Given the description of an element on the screen output the (x, y) to click on. 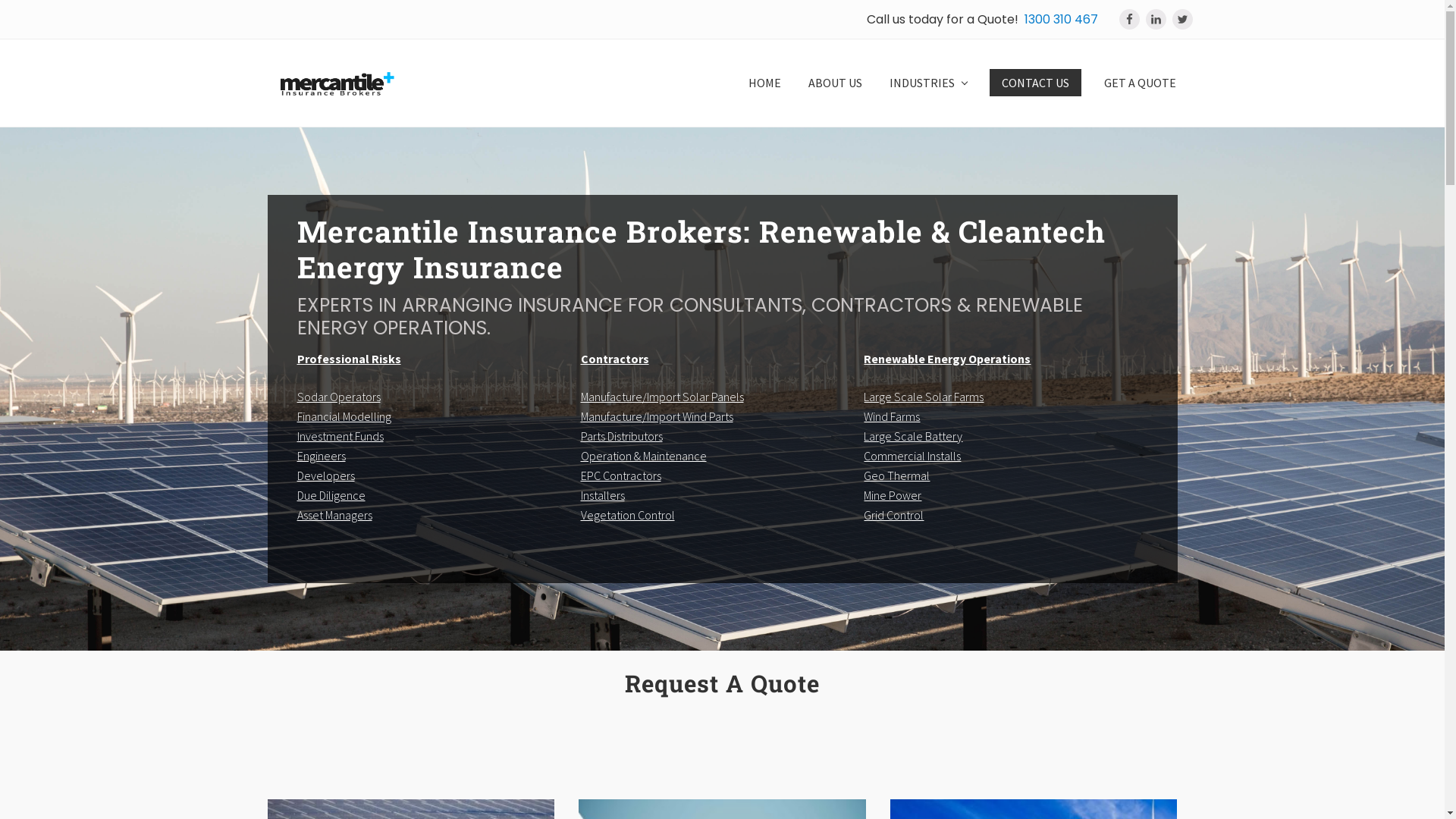
Asset Managers Element type: text (334, 514)
Parts Distributors Element type: text (621, 435)
Contractors Element type: text (614, 358)
Professional Risks Element type: text (349, 358)
Commercial Installs Element type: text (911, 455)
Operation & Maintenance Element type: text (643, 455)
Investment Funds Element type: text (340, 435)
Large Scale Battery Element type: text (912, 435)
Manufacture/Import Wind Parts Element type: text (656, 415)
INDUSTRIES Element type: text (927, 83)
Wind Farms Element type: text (891, 415)
LinkedIn Element type: text (1155, 19)
Due Diligence Element type: text (331, 494)
Large Scale Solar Farms Element type: text (923, 396)
Installers Element type: text (602, 494)
Facebook Element type: text (1129, 19)
ABOUT US Element type: text (835, 83)
Developers Element type: text (325, 475)
1300 310 467 Element type: text (1060, 19)
CONTACT US Element type: text (1034, 83)
Vegetation Control Element type: text (627, 514)
Renewable Energy Operations Element type: text (946, 358)
Engineers Element type: text (321, 455)
Mine Power Element type: text (892, 494)
Grid Control Element type: text (893, 514)
Geo Thermal Element type: text (896, 475)
GET A QUOTE Element type: text (1140, 83)
Sodar Operators Element type: text (338, 396)
Skip to right header navigation Element type: text (0, 0)
Financial Modelling Element type: text (344, 415)
EPC Contractors Element type: text (620, 475)
HOME Element type: text (763, 83)
Twitter Element type: text (1182, 19)
Manufacture/Import Solar Panels Element type: text (661, 396)
